Given the description of an element on the screen output the (x, y) to click on. 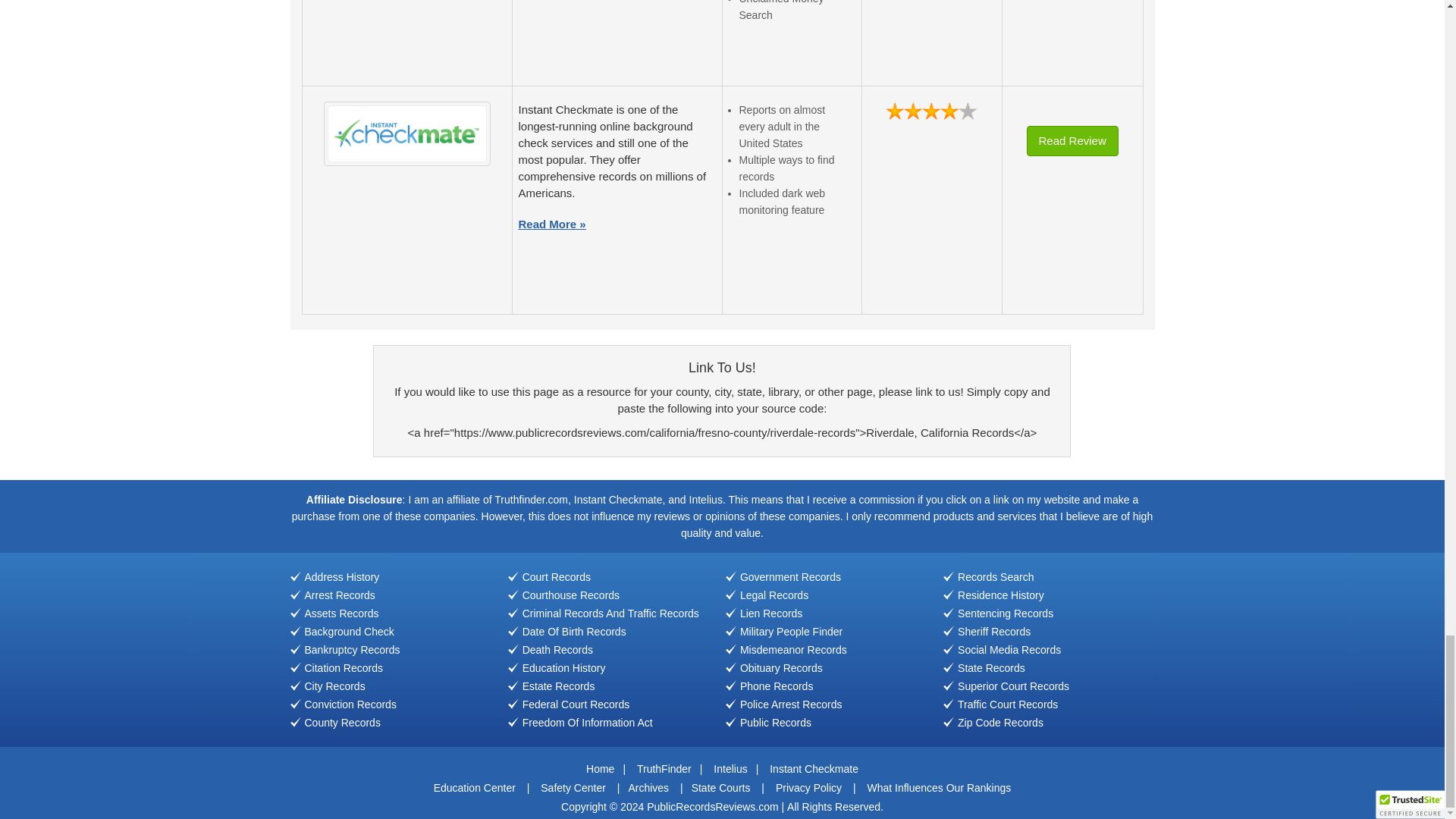
Instant Checkmate (406, 133)
